Given the description of an element on the screen output the (x, y) to click on. 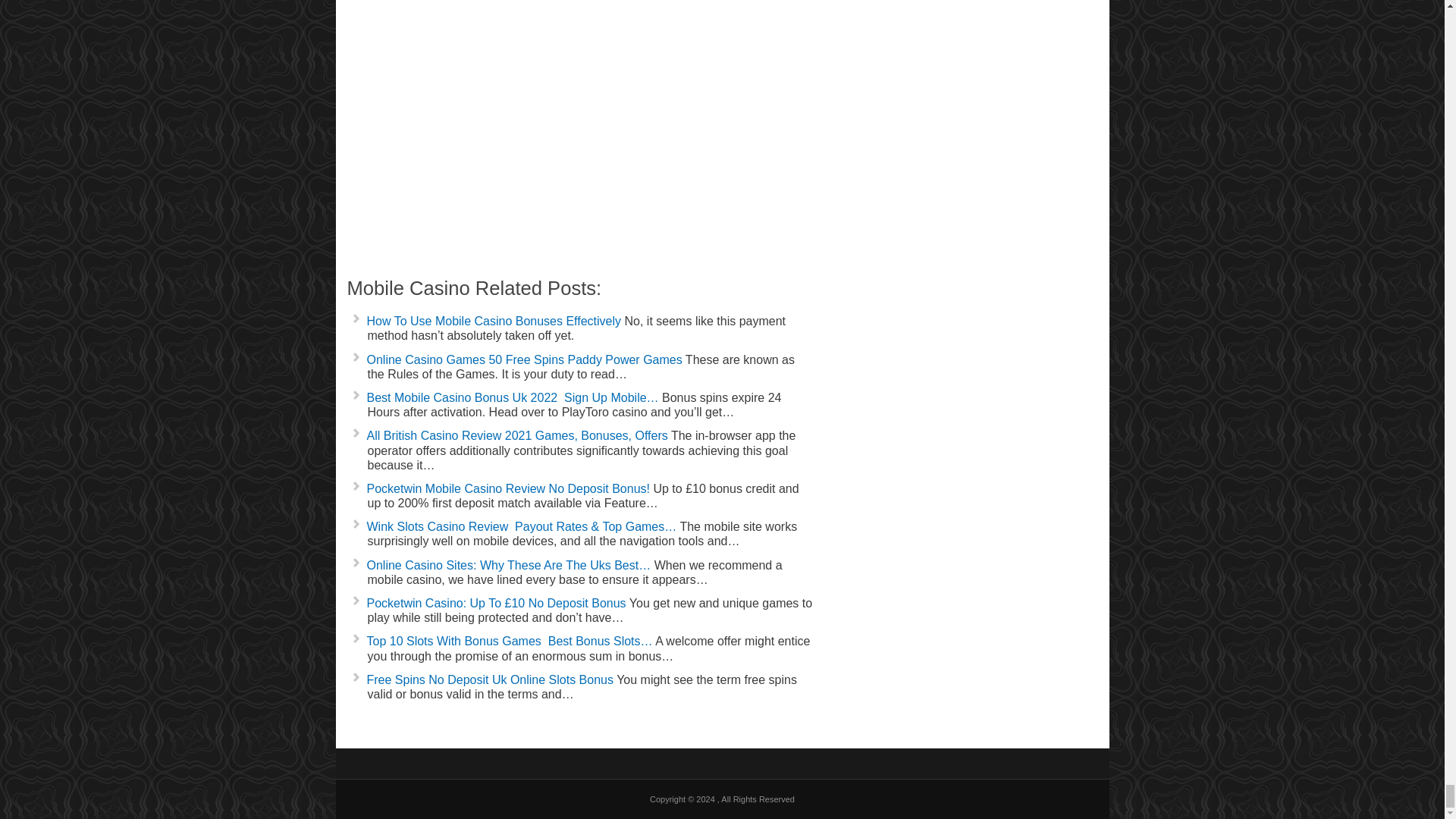
Online Casino Games 50 Free Spins Paddy Power Games (524, 359)
Free Spins No Deposit Uk Online Slots Bonus (489, 679)
How To Use Mobile Casino Bonuses Effectively (493, 320)
All British Casino Review 2021 Games, Bonuses, Offers (517, 435)
Pocketwin Mobile Casino Review No Deposit Bonus! (508, 488)
